Given the description of an element on the screen output the (x, y) to click on. 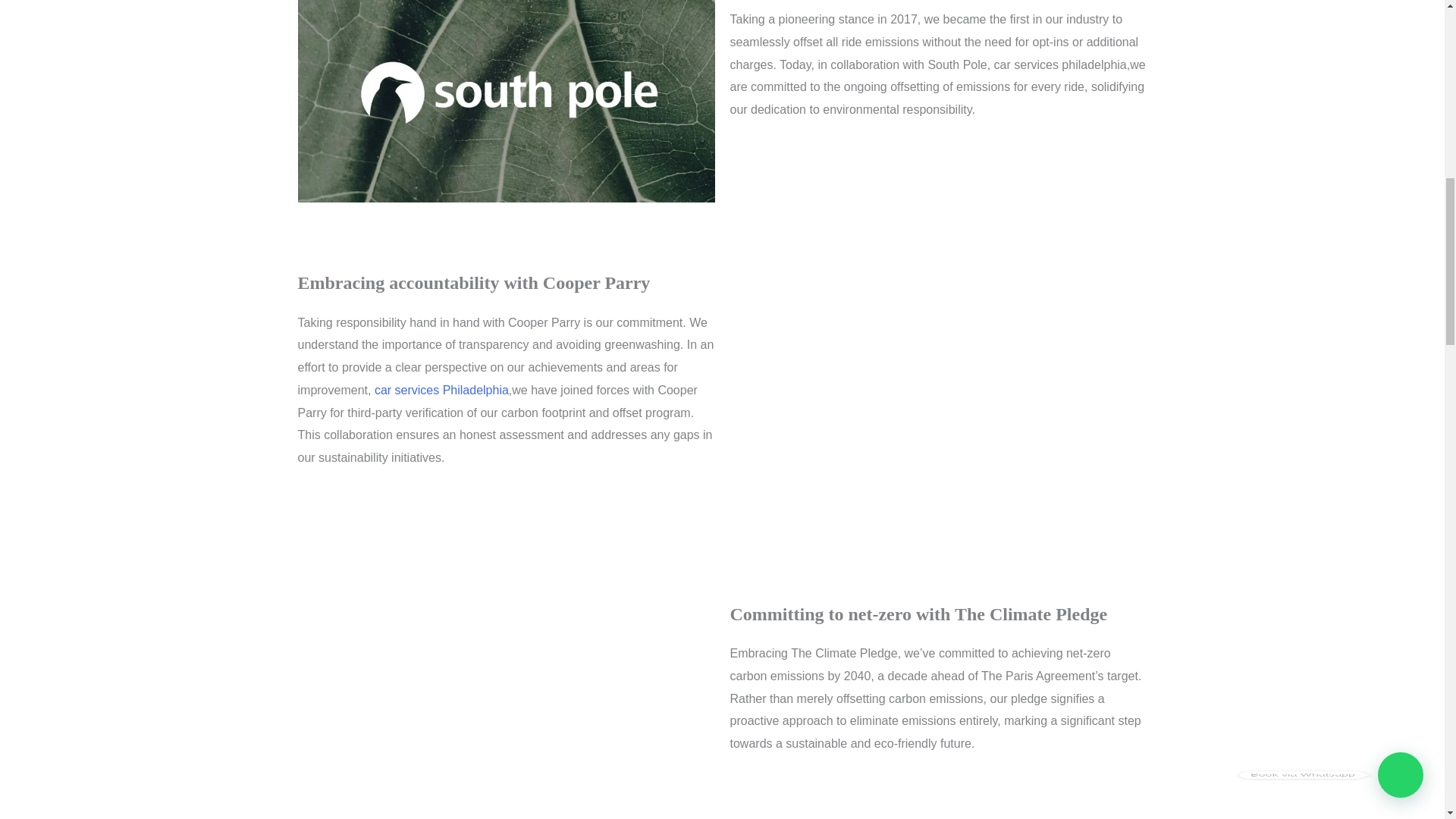
car services Philadelphia (441, 390)
